Given the description of an element on the screen output the (x, y) to click on. 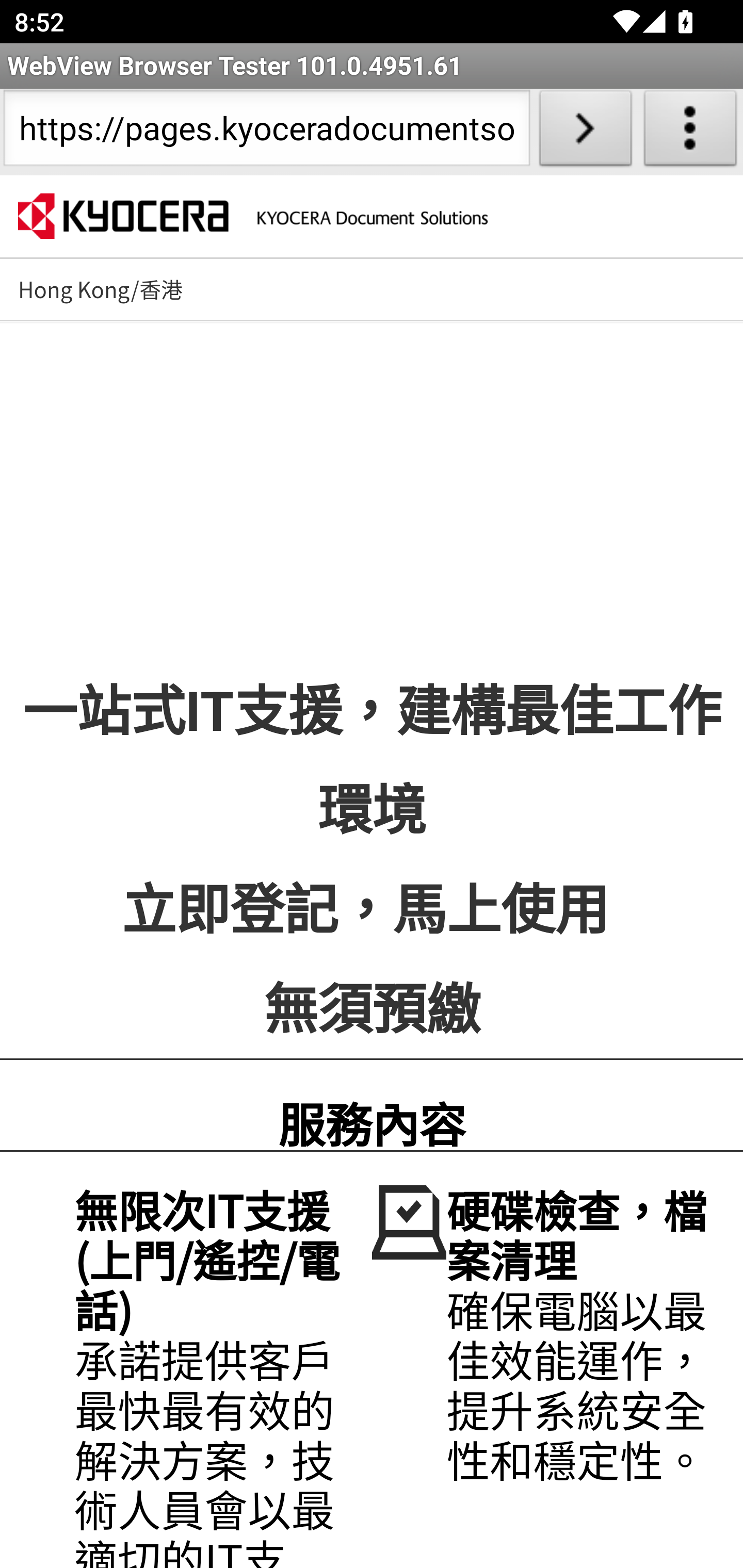
Load URL (585, 132)
About WebView (690, 132)
KYOCERA Document Solutions (252, 218)
